Given the description of an element on the screen output the (x, y) to click on. 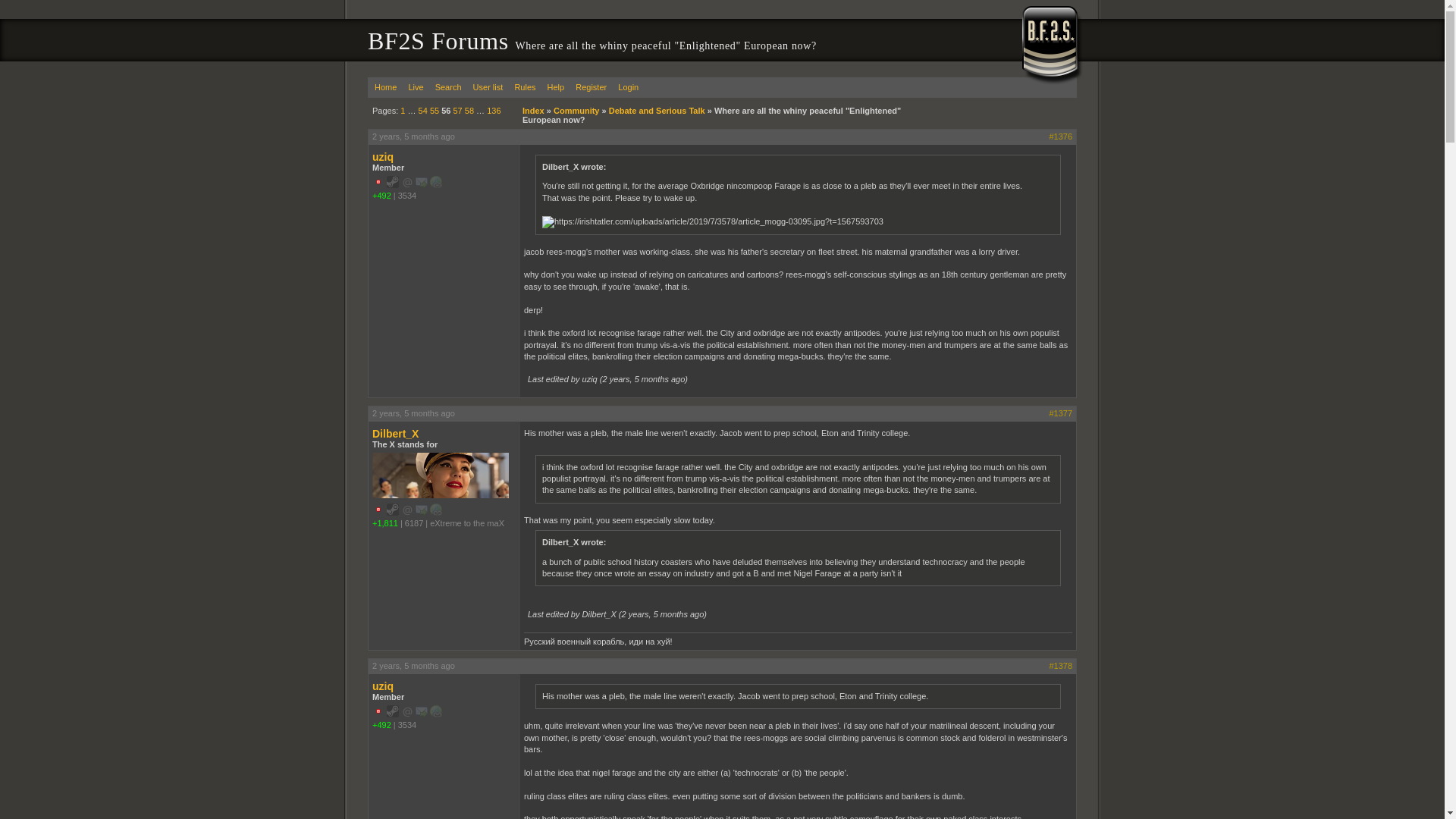
Users Karma Count (381, 194)
Home (385, 86)
136 (493, 110)
Offline (378, 182)
No Website (435, 509)
2022-01-27 15:36:20 (413, 135)
Login (628, 86)
uziq (444, 156)
From (466, 522)
Rules (524, 86)
Search (448, 86)
Days of membership since 2014-11-14 (406, 194)
58 (469, 110)
Register (591, 86)
No Email (407, 182)
